Given the description of an element on the screen output the (x, y) to click on. 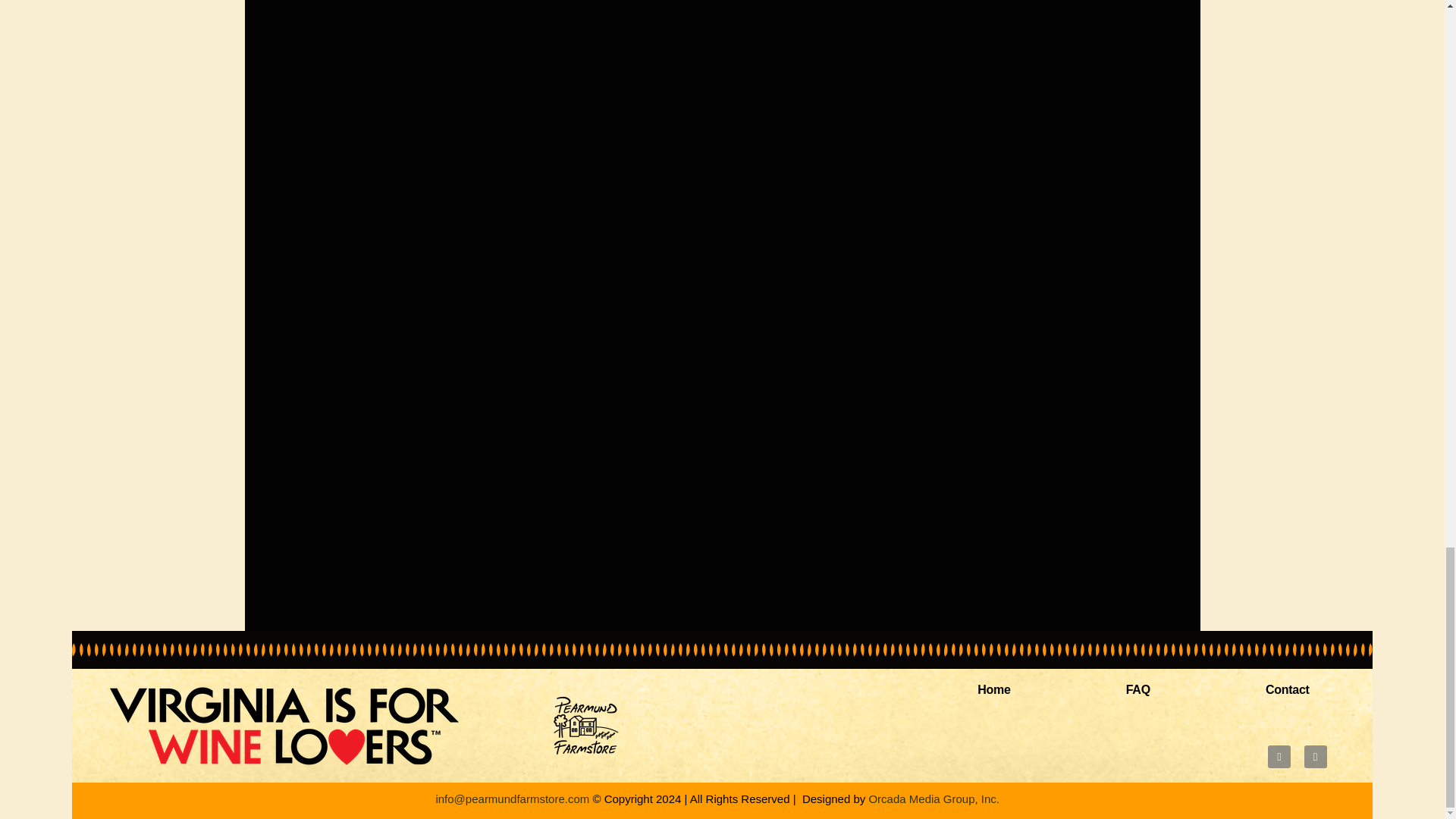
Contact (1287, 689)
Home (993, 689)
FAQ (1138, 689)
